Given the description of an element on the screen output the (x, y) to click on. 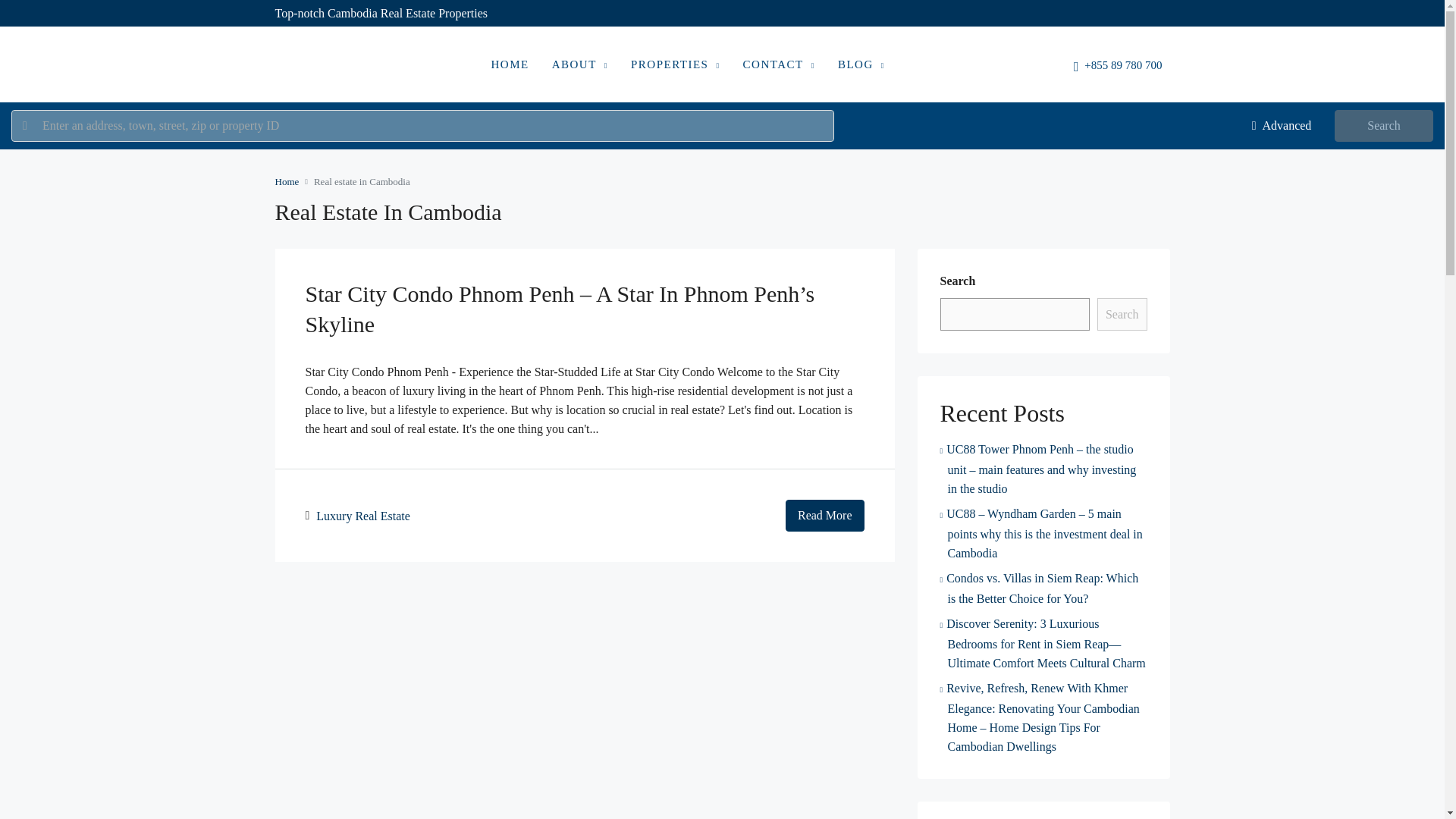
ABOUT (580, 65)
PROPERTIES (676, 65)
